Given the description of an element on the screen output the (x, y) to click on. 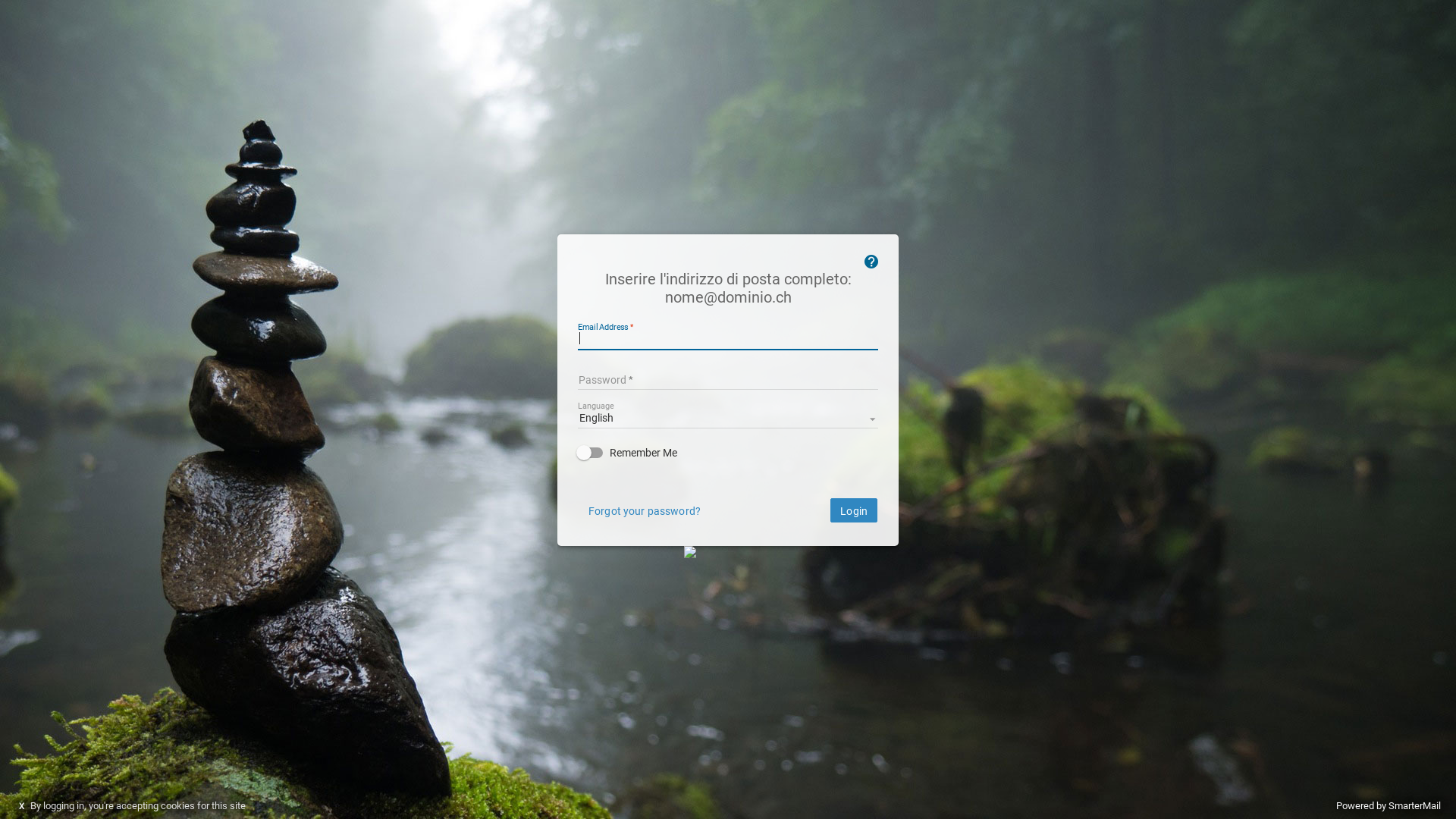
Login Element type: text (853, 510)
Forgot your password? Element type: text (644, 510)
Powered by SmarterMail Element type: text (1388, 805)
